Given the description of an element on the screen output the (x, y) to click on. 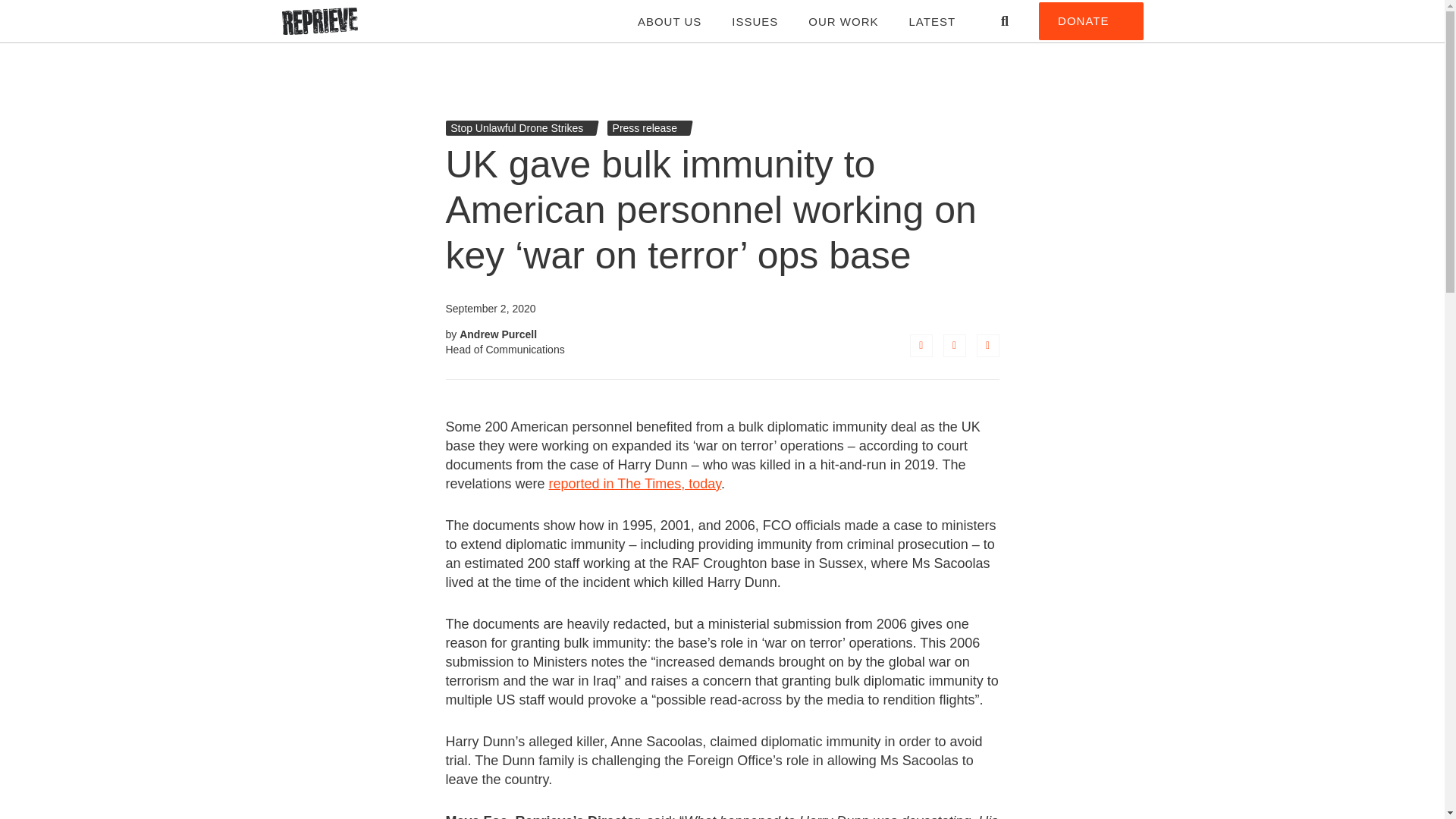
Andrew Purcell (498, 334)
LATEST (931, 25)
About Us (669, 25)
Press release (644, 127)
Our work (842, 25)
OUR WORK (842, 25)
Stop Unlawful Drone Strikes (516, 127)
ABOUT US (669, 25)
Search (1004, 21)
reported in The Times, today (634, 483)
